Given the description of an element on the screen output the (x, y) to click on. 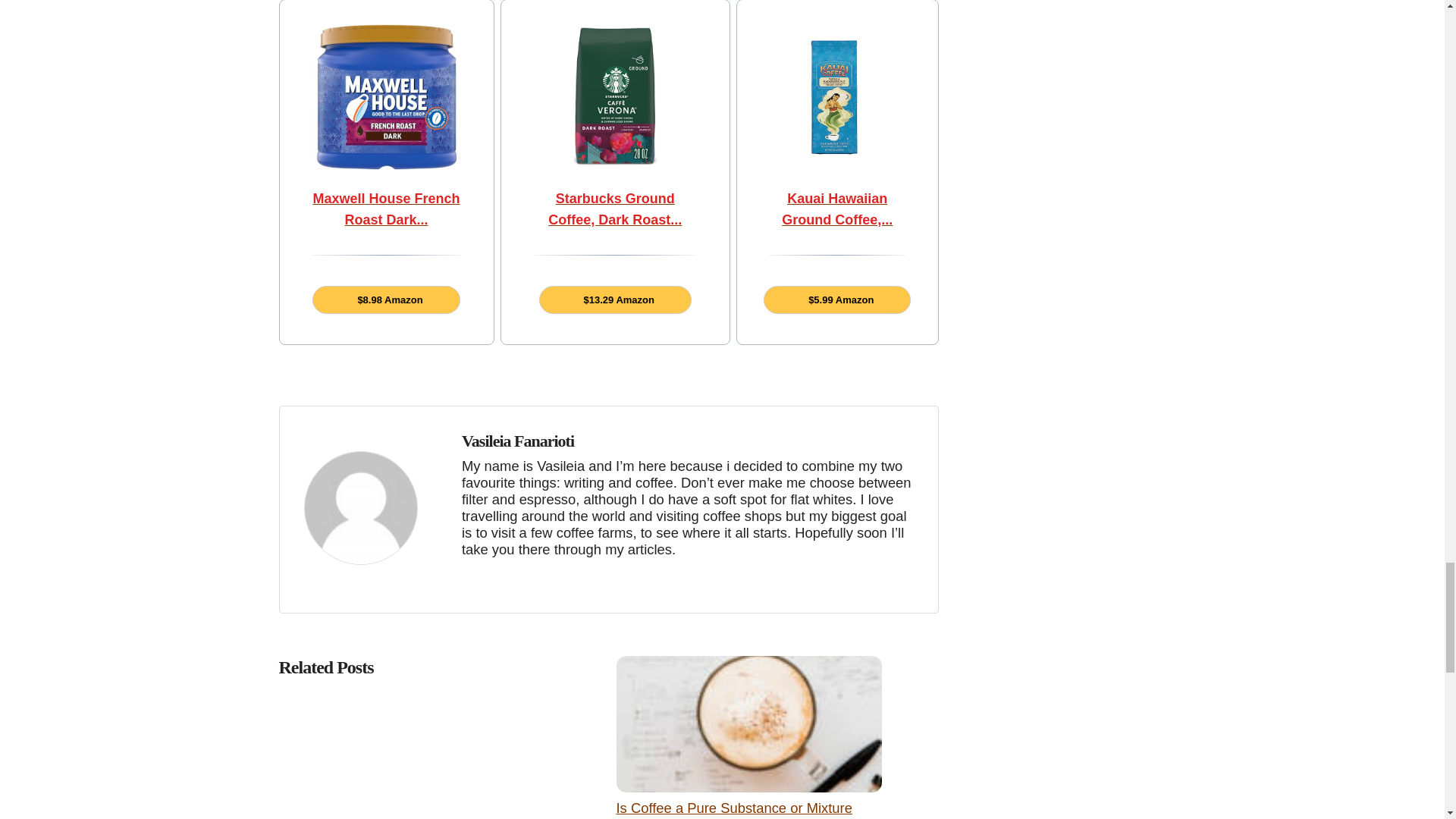
default image (359, 507)
Is Coffee a Pure Substance or Mixture (733, 807)
Permanent Link to Is Coffee a Pure Substance or Mixture (733, 807)
